Given the description of an element on the screen output the (x, y) to click on. 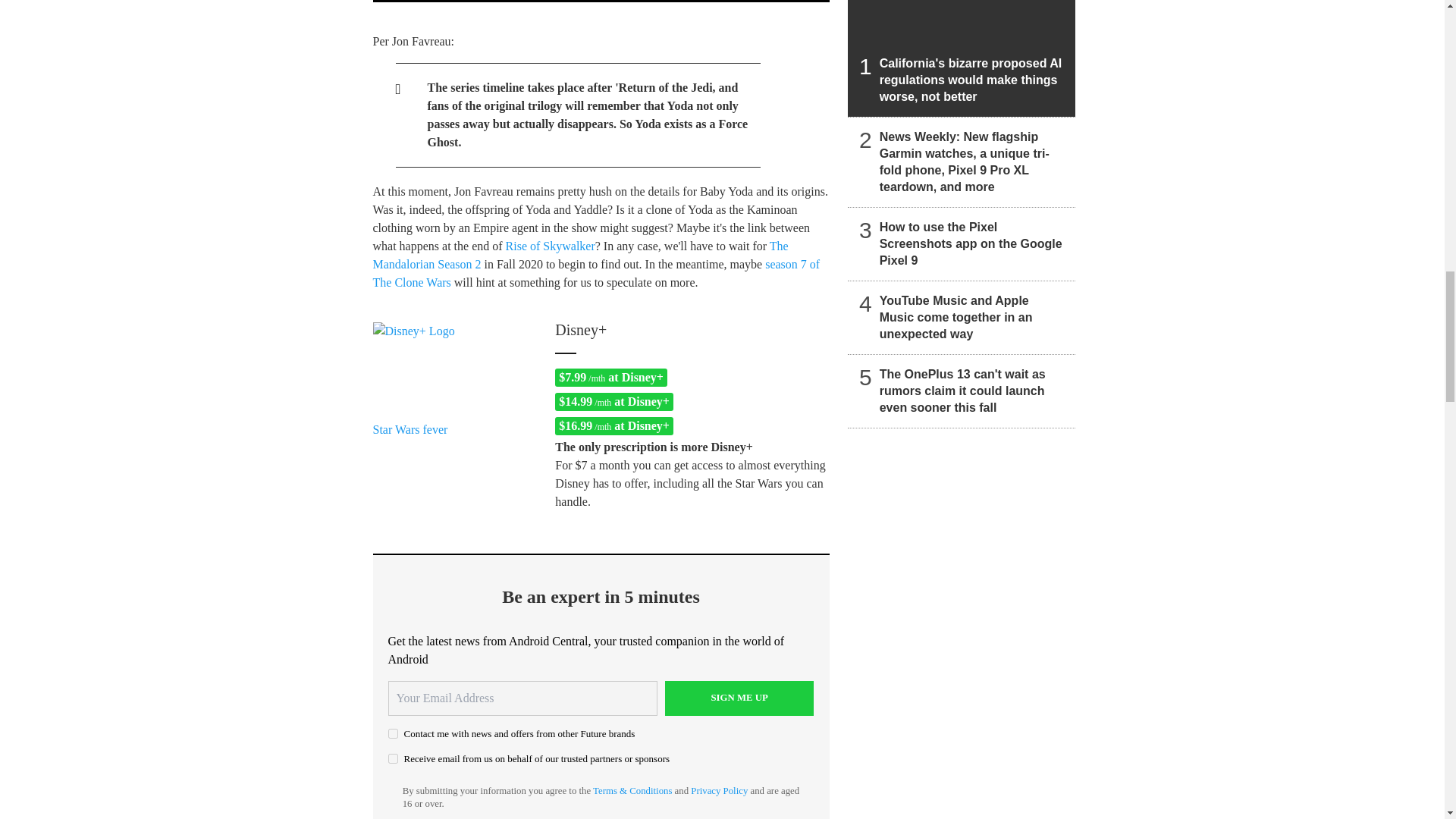
Sign me up (739, 697)
on (392, 733)
on (392, 758)
